Given the description of an element on the screen output the (x, y) to click on. 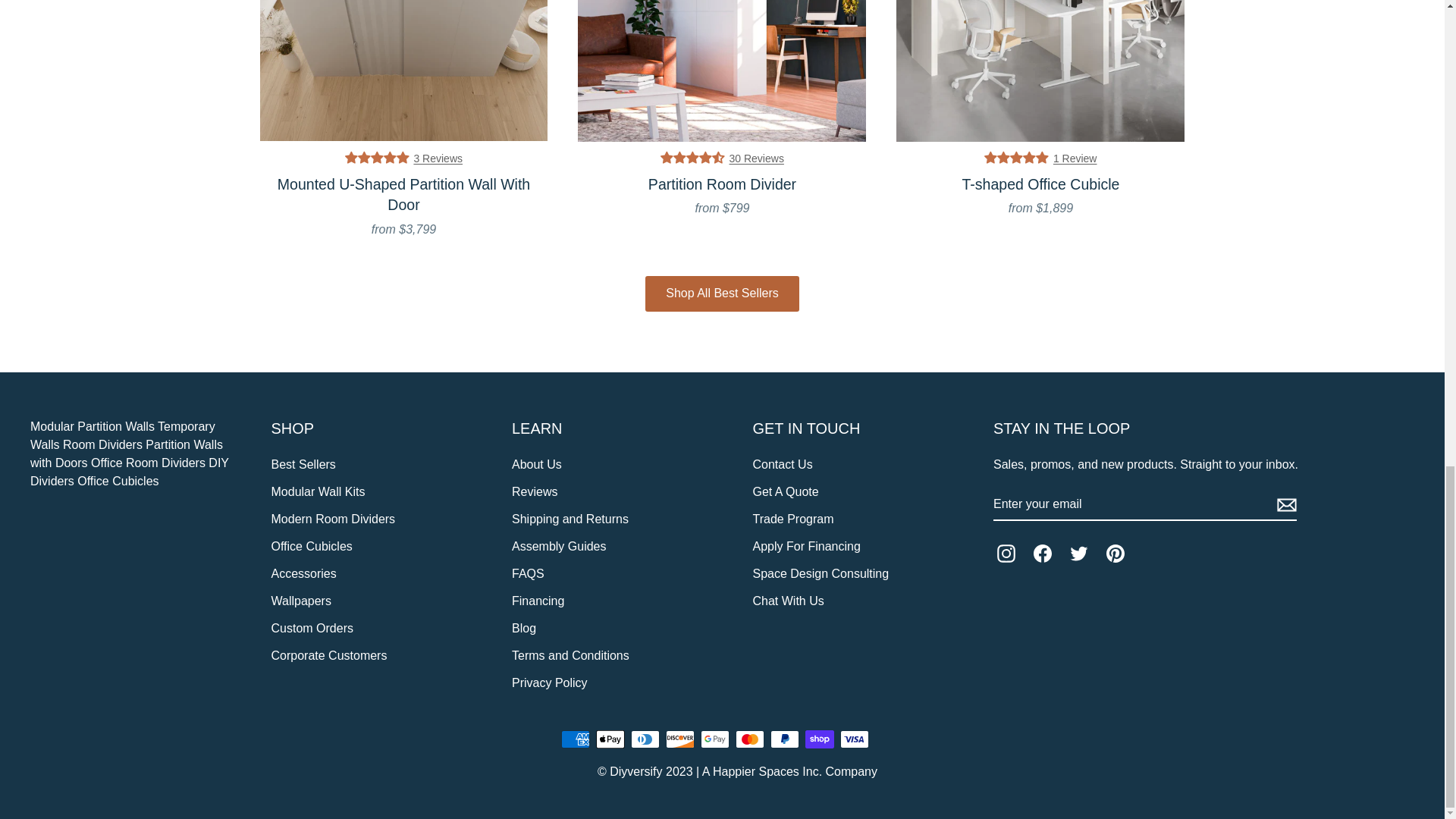
Apple Pay (609, 739)
Shop All Best Sellers (722, 294)
Shop Pay (819, 739)
PayPal (784, 739)
Diners Club (644, 739)
Discover (679, 739)
Google Pay (714, 739)
Mastercard (749, 739)
Visa (854, 739)
American Express (574, 739)
